Given the description of an element on the screen output the (x, y) to click on. 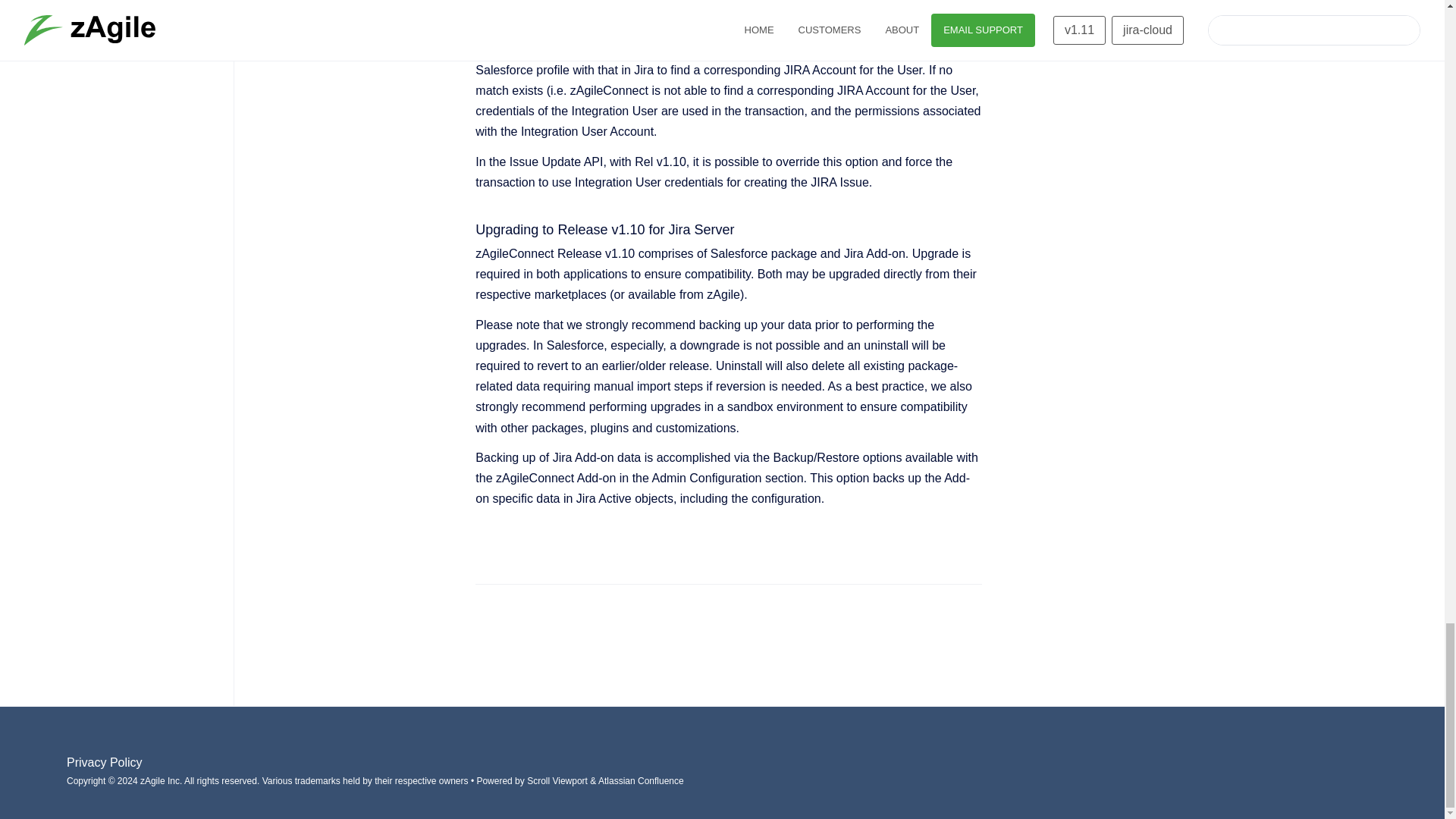
Scroll Viewport (558, 780)
Privacy Policy (104, 762)
Atlassian Confluence (641, 780)
